Given the description of an element on the screen output the (x, y) to click on. 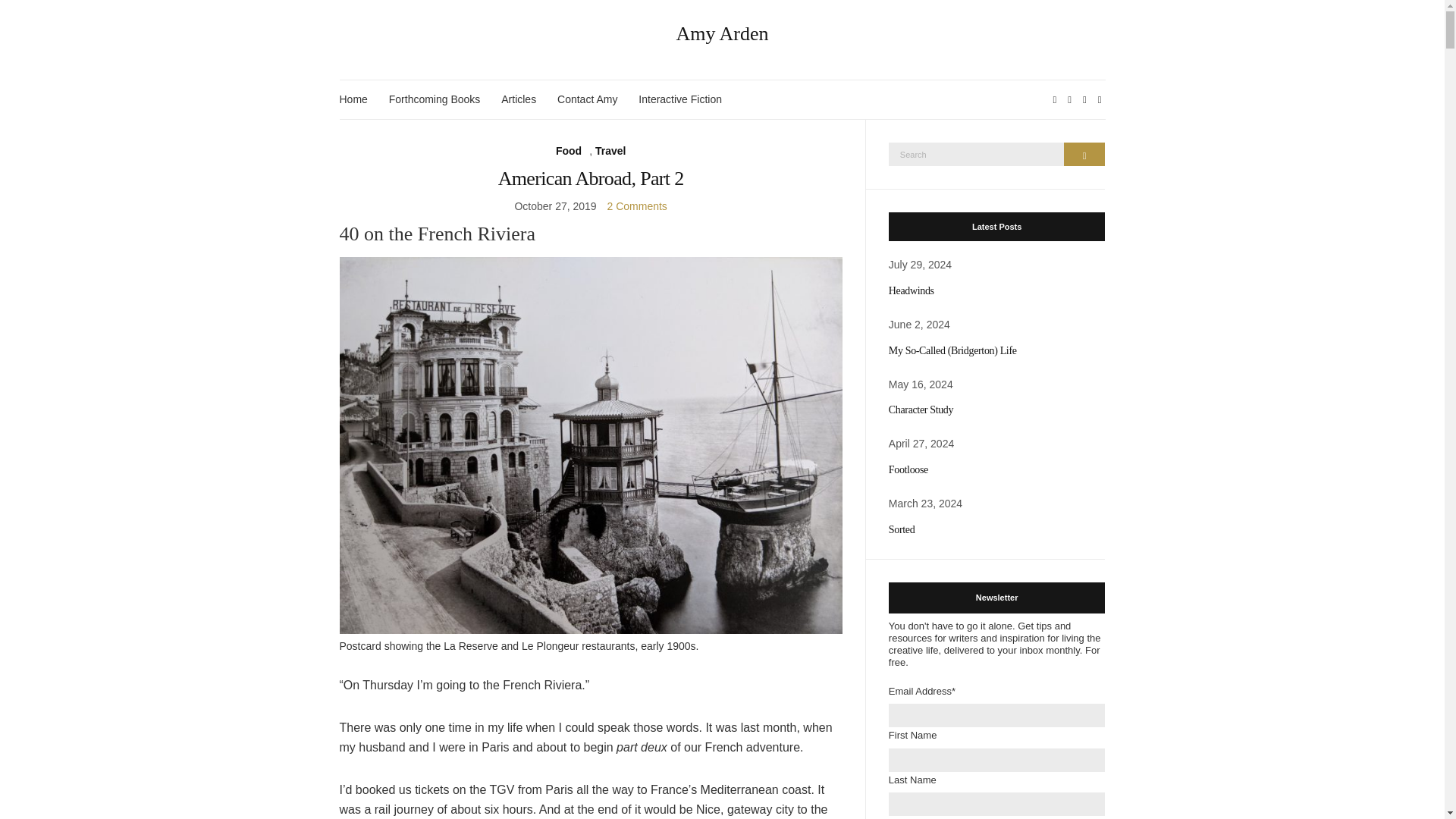
Contact Amy (587, 99)
Forthcoming Books (434, 99)
Articles (517, 99)
Amy Arden (722, 33)
Interactive Fiction (680, 99)
Travel (610, 150)
2 Comments (636, 205)
Home (353, 99)
Food (568, 150)
American Abroad, Part 2 (590, 178)
